Given the description of an element on the screen output the (x, y) to click on. 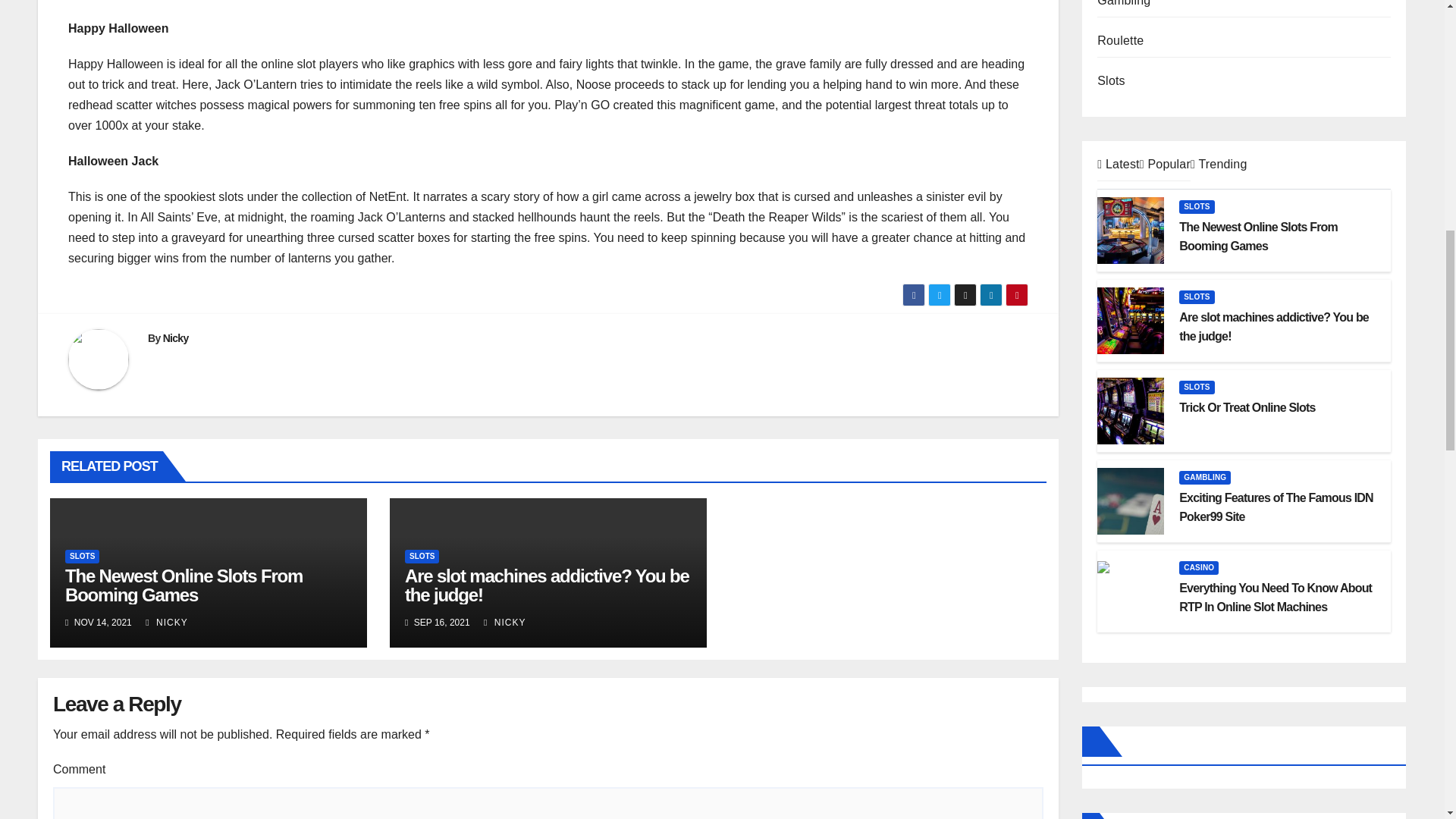
NICKY (166, 622)
The Newest Online Slots From Booming Games (183, 585)
SLOTS (82, 556)
Permalink to: Are slot machines addictive? You be the judge! (546, 585)
Permalink to: The Newest Online Slots From Booming Games (183, 585)
Are slot machines addictive? You be the judge! (546, 585)
Nicky (176, 337)
SLOTS (421, 556)
NICKY (504, 622)
